Given the description of an element on the screen output the (x, y) to click on. 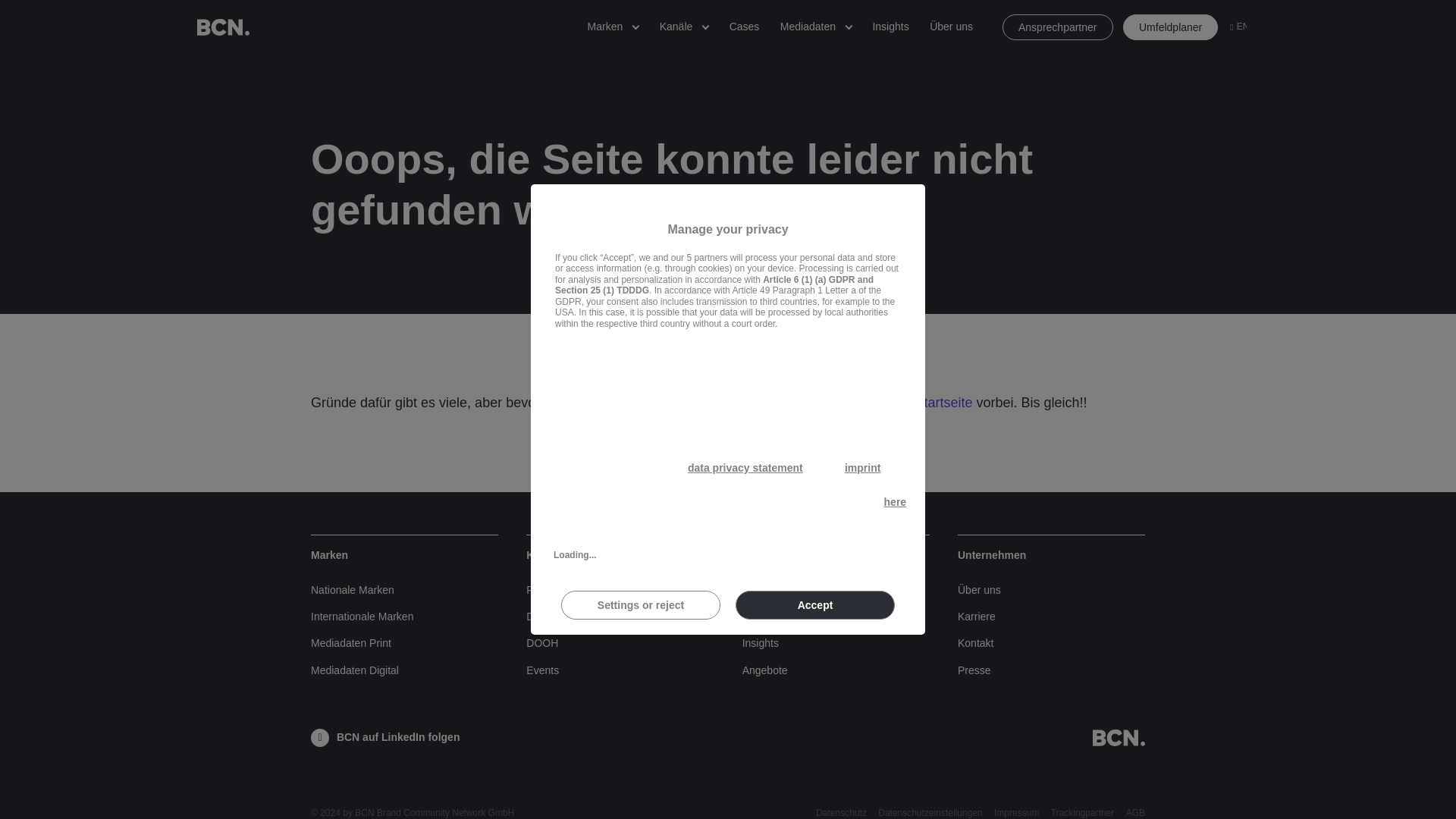
Marken (605, 26)
Mediadaten (807, 26)
Umfeldplaner (1169, 26)
Cases (744, 26)
THE BRAND COMMUNITY NETWORK (222, 26)
Ansprechpartner (1058, 26)
Insights (890, 26)
